Given the description of an element on the screen output the (x, y) to click on. 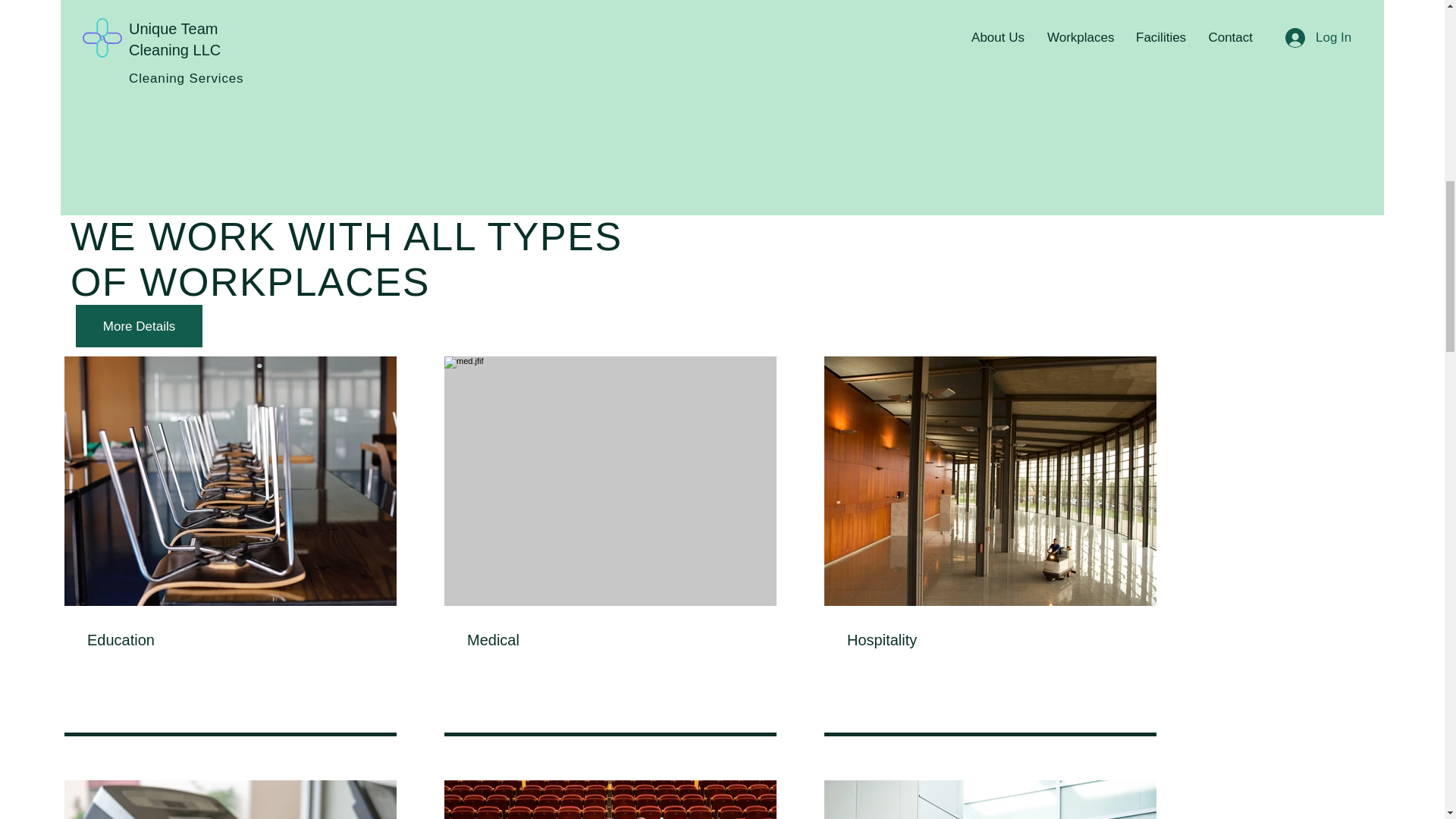
More Details (138, 325)
